Given the description of an element on the screen output the (x, y) to click on. 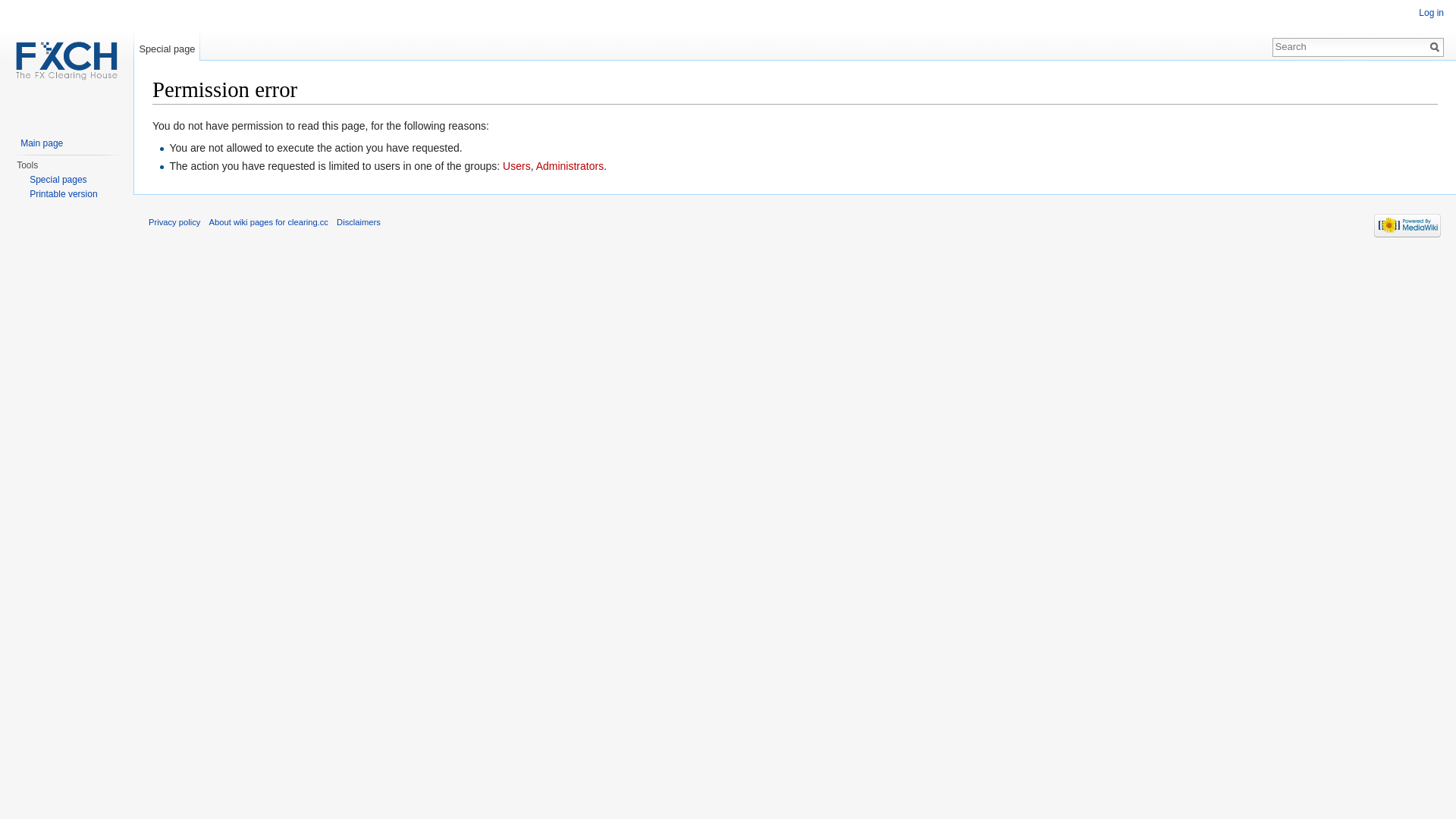
Special pages Element type: text (57, 179)
Special page Element type: text (167, 45)
Search Element type: text (1434, 46)
About wiki pages for clearing.cc Element type: text (268, 221)
Log in Element type: text (1430, 12)
Visit the main page Element type: hover (66, 60)
Disclaimers Element type: text (358, 221)
Search wiki pages for clearing.cc [f] Element type: hover (1349, 45)
Privacy policy Element type: text (174, 221)
Printable version Element type: text (63, 193)
Users Element type: text (516, 166)
Search the pages for this text Element type: hover (1434, 46)
Main page Element type: text (41, 143)
Administrators Element type: text (569, 166)
